Given the description of an element on the screen output the (x, y) to click on. 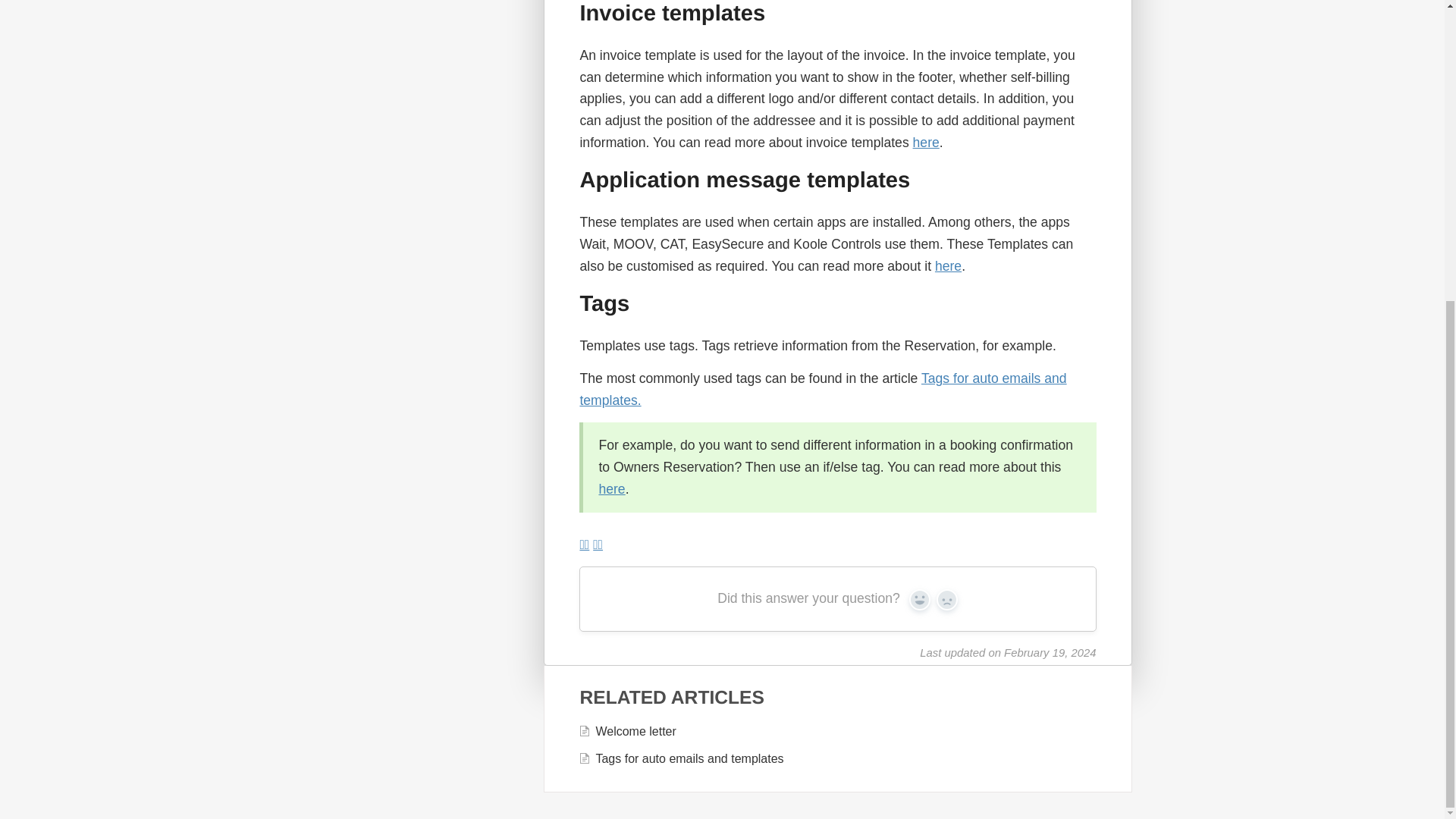
here (611, 488)
Welcome letter (626, 730)
here (925, 142)
Tags for auto emails and templates. (822, 389)
No (947, 599)
here (947, 265)
Yes (919, 599)
Tags for auto emails and templates (680, 758)
